Given the description of an element on the screen output the (x, y) to click on. 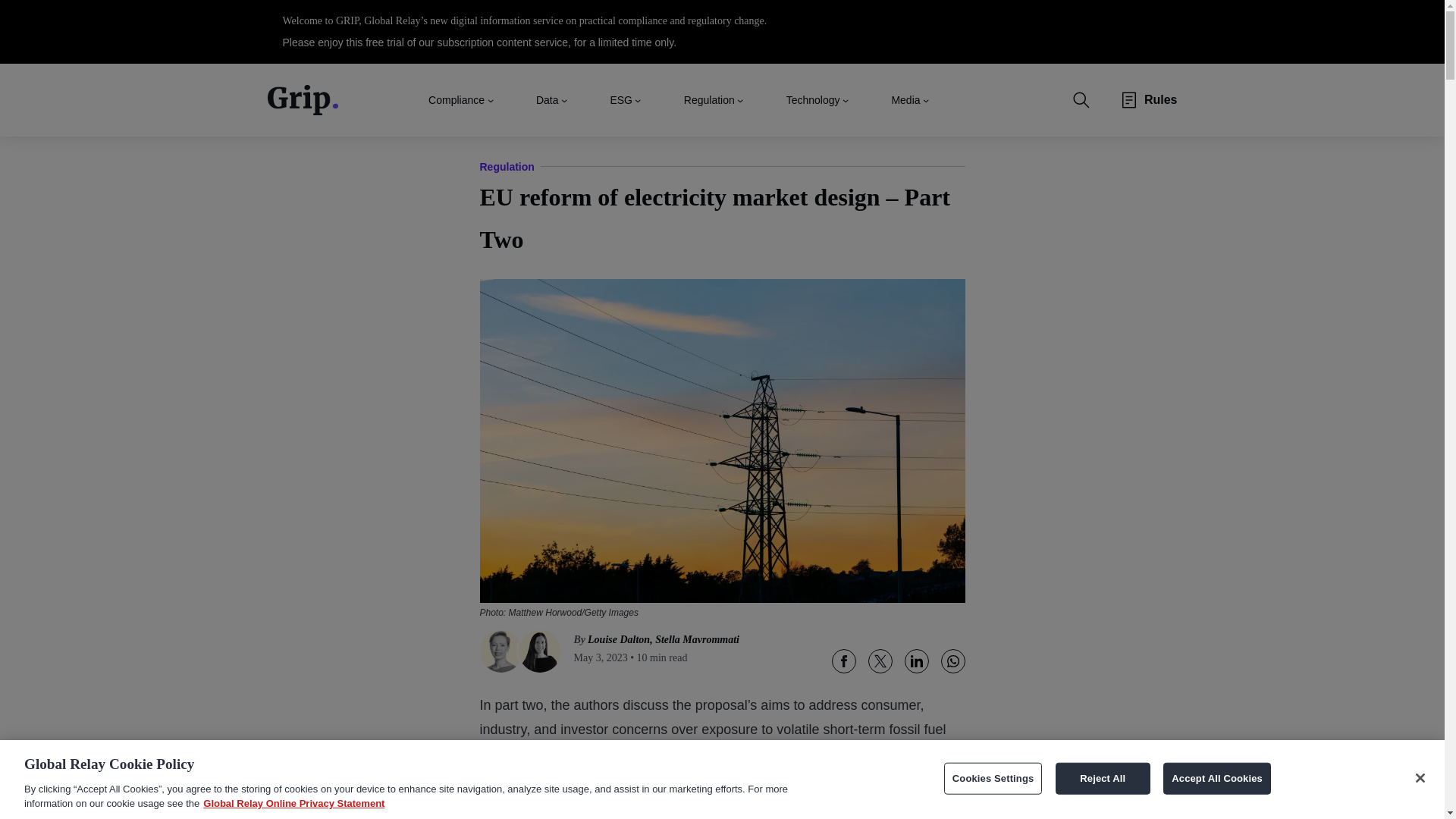
Click to share on LinkedIn (916, 661)
Click to share on Twitter (879, 661)
Regulation (709, 99)
Click to share on Facebook (843, 661)
Rules (1160, 99)
Compliance (456, 99)
Data (547, 99)
Click to share on WhatsApp (951, 661)
Louise Dalton (618, 639)
ESG (620, 99)
Regulation (506, 167)
Stella Mavrommati (697, 639)
Media (905, 99)
Technology (813, 99)
